Given the description of an element on the screen output the (x, y) to click on. 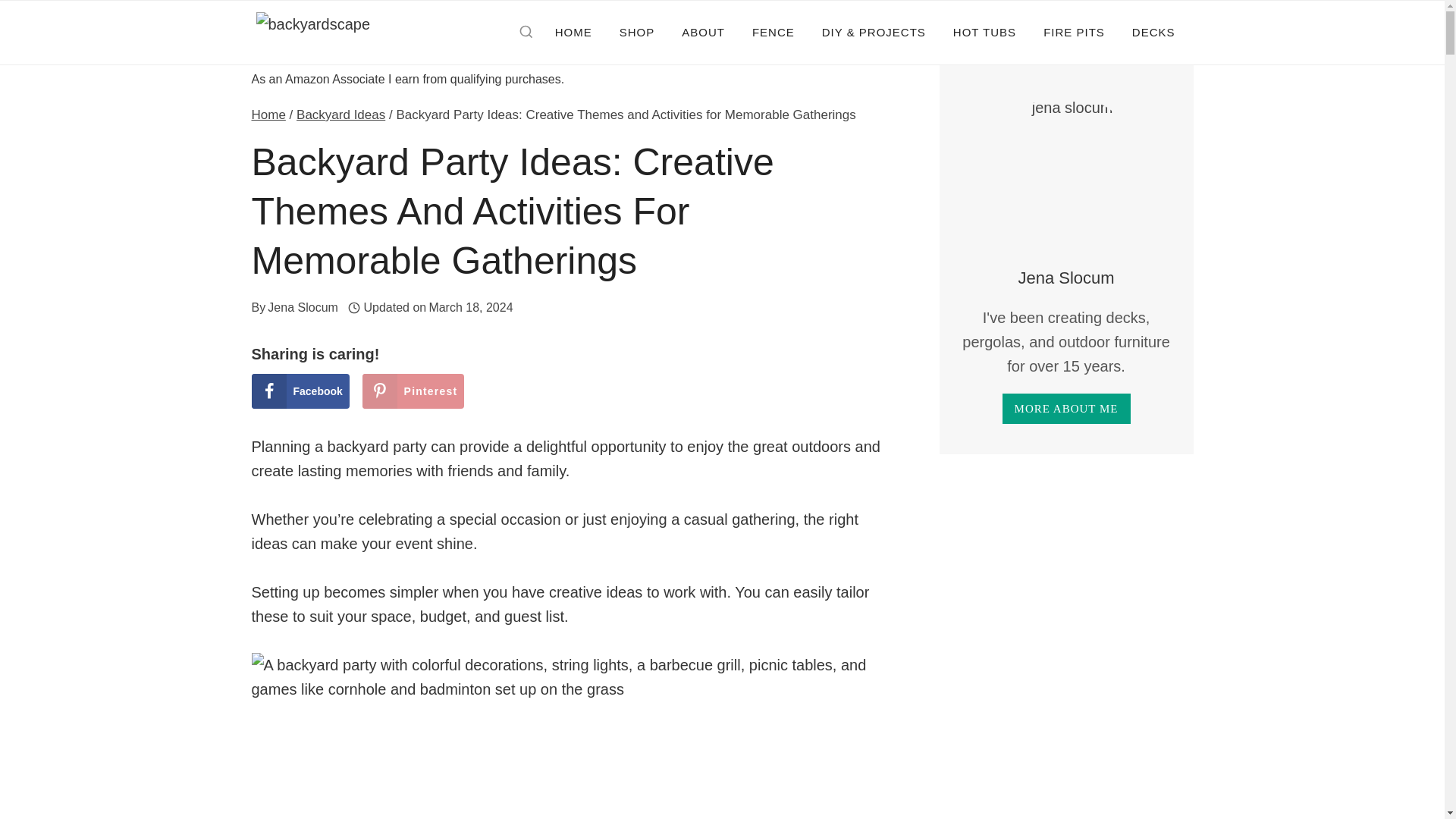
Home (268, 114)
FIRE PITS (1073, 32)
FENCE (773, 32)
Jena Slocum (302, 307)
Backyard Ideas (341, 114)
ABOUT (703, 32)
SHOP (636, 32)
HOT TUBS (984, 32)
Pinterest (413, 390)
Share on Facebook (300, 390)
Facebook (300, 390)
DECKS (1153, 32)
HOME (573, 32)
Save to Pinterest (413, 390)
